Given the description of an element on the screen output the (x, y) to click on. 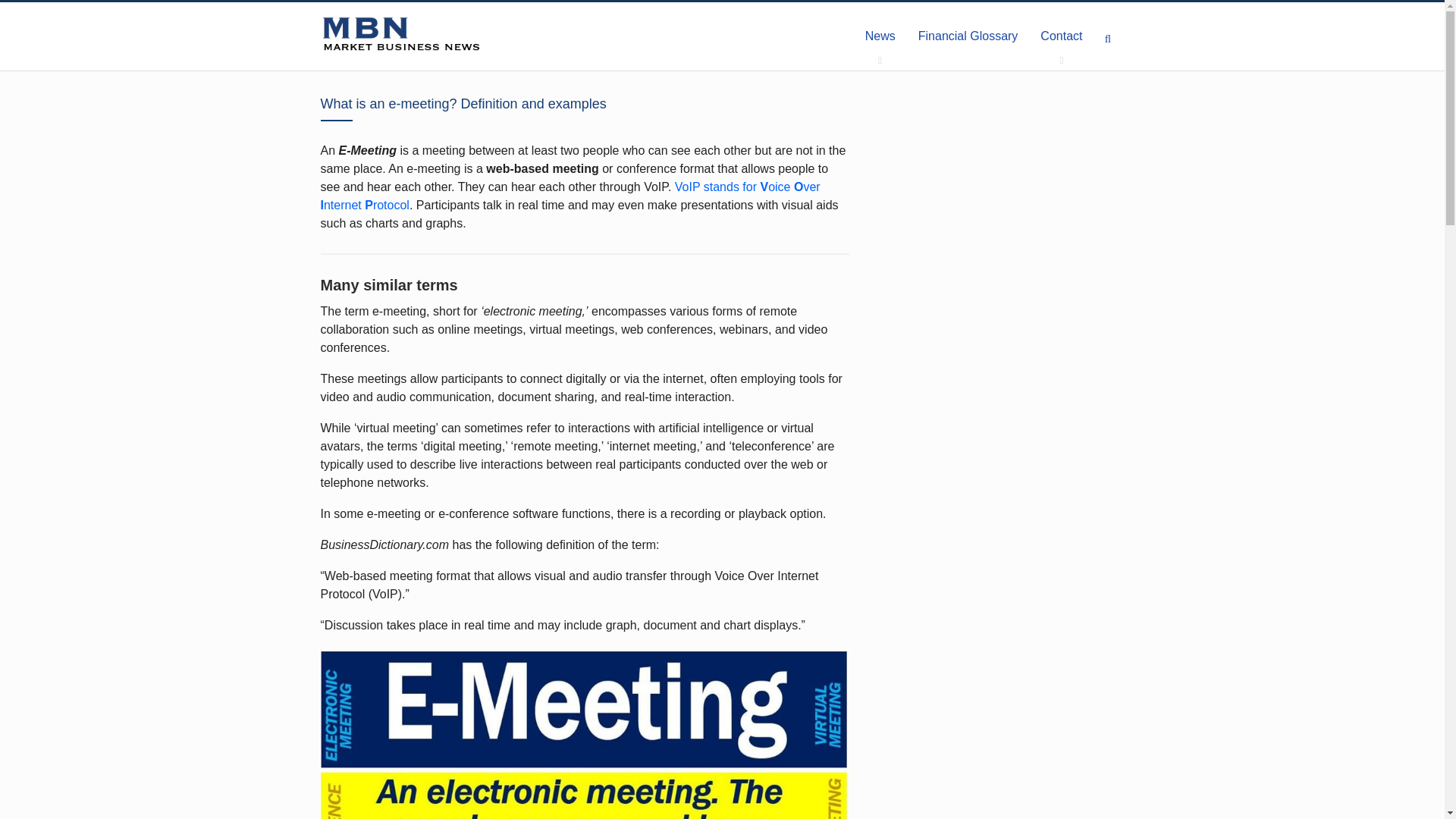
Contact (1061, 36)
Financial Glossary (968, 36)
VoIP stands for Voice Over Internet Protocol (569, 195)
